Given the description of an element on the screen output the (x, y) to click on. 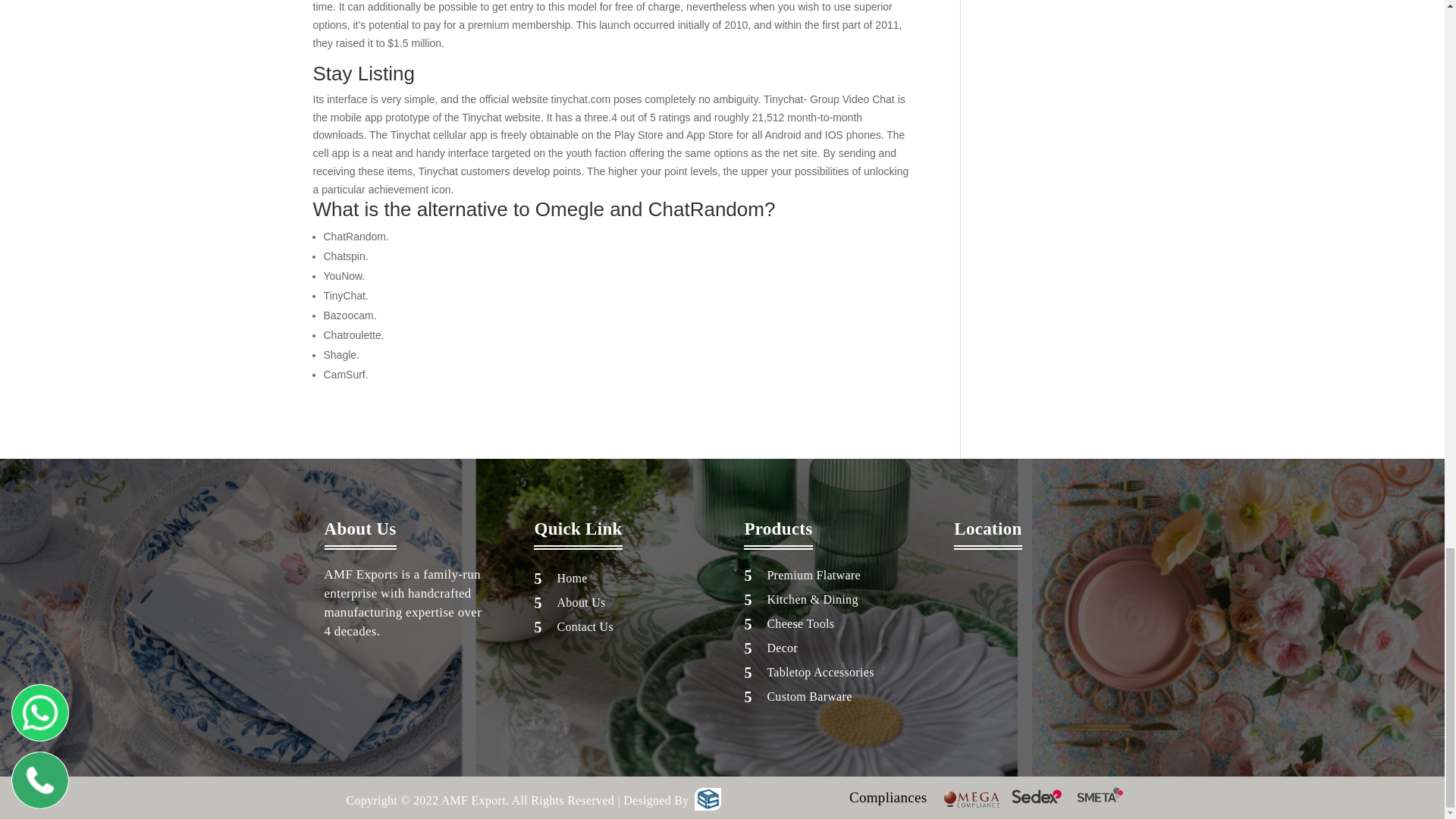
About Us (580, 602)
Home (571, 577)
Contact Us (584, 626)
Cheese Tools (800, 623)
Premium Flatware (813, 574)
